Given the description of an element on the screen output the (x, y) to click on. 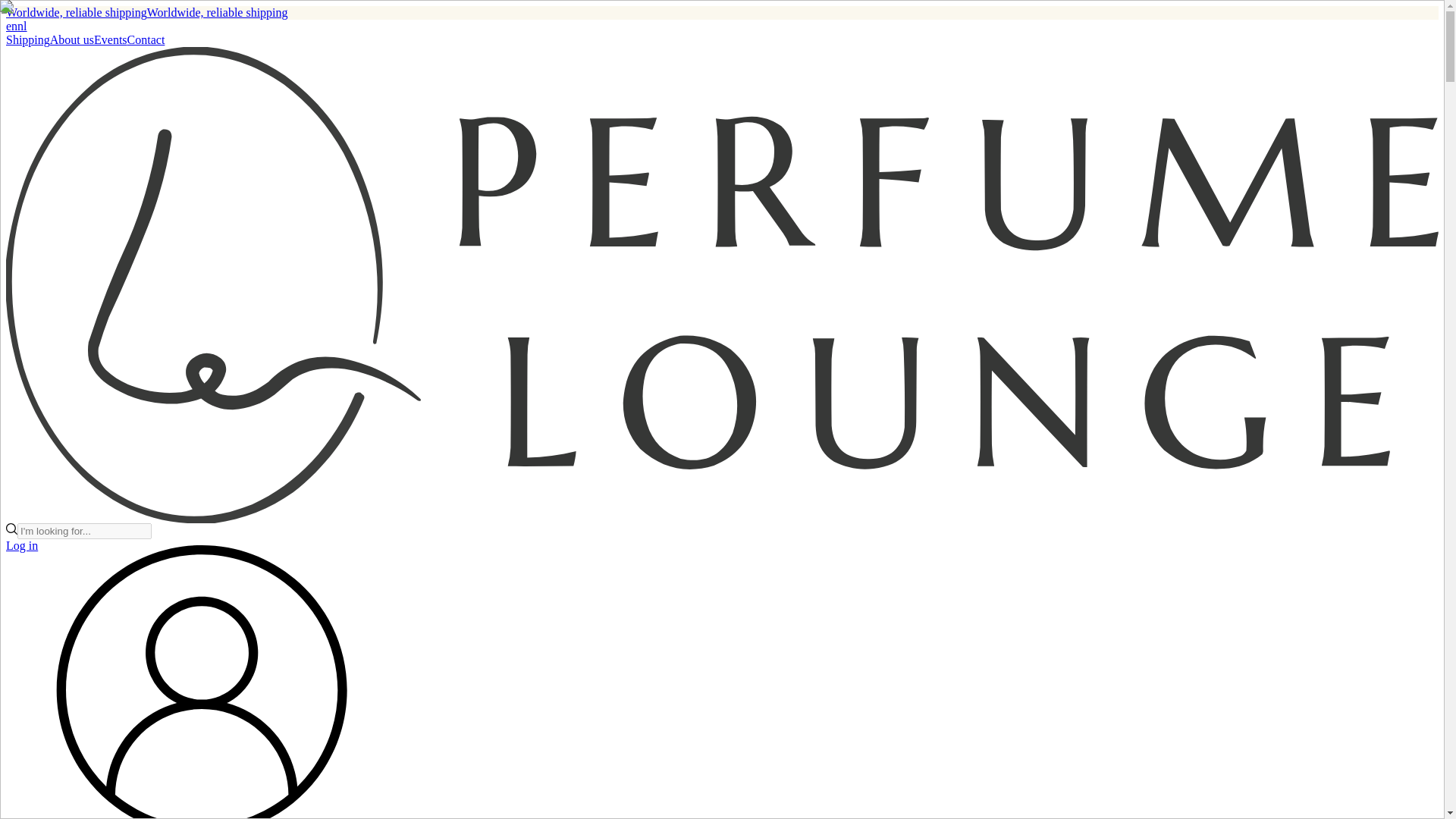
Worldwide, reliable shipping (217, 11)
Worldwide, reliable shipping (76, 11)
About us (71, 39)
Contact (146, 39)
Events (111, 39)
Shipping (27, 39)
